Given the description of an element on the screen output the (x, y) to click on. 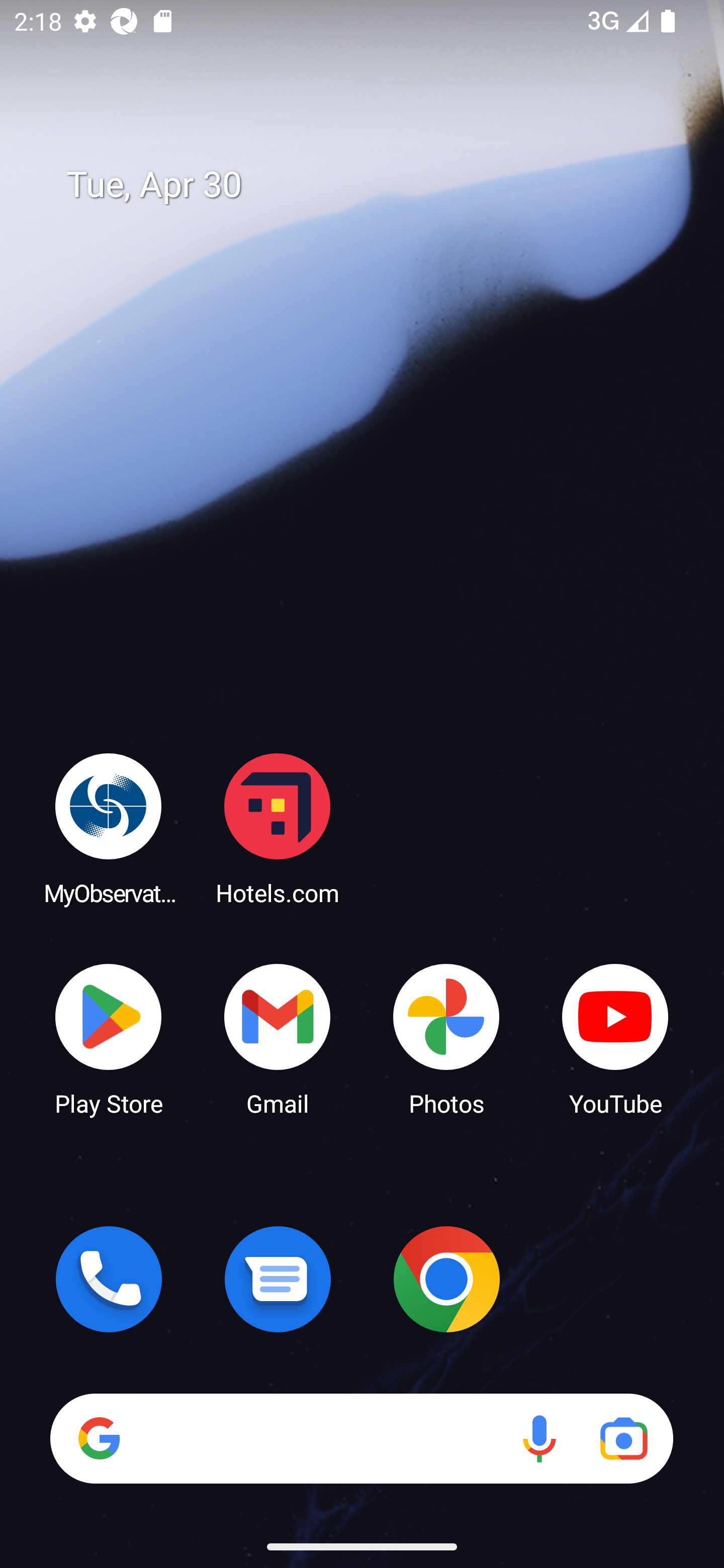
Tue, Apr 30 (375, 184)
MyObservatory (108, 828)
Hotels.com (277, 828)
Play Store (108, 1038)
Gmail (277, 1038)
Photos (445, 1038)
YouTube (615, 1038)
Phone (108, 1279)
Messages (277, 1279)
Chrome (446, 1279)
Search Voice search Google Lens (361, 1438)
Voice search (539, 1438)
Google Lens (623, 1438)
